Given the description of an element on the screen output the (x, y) to click on. 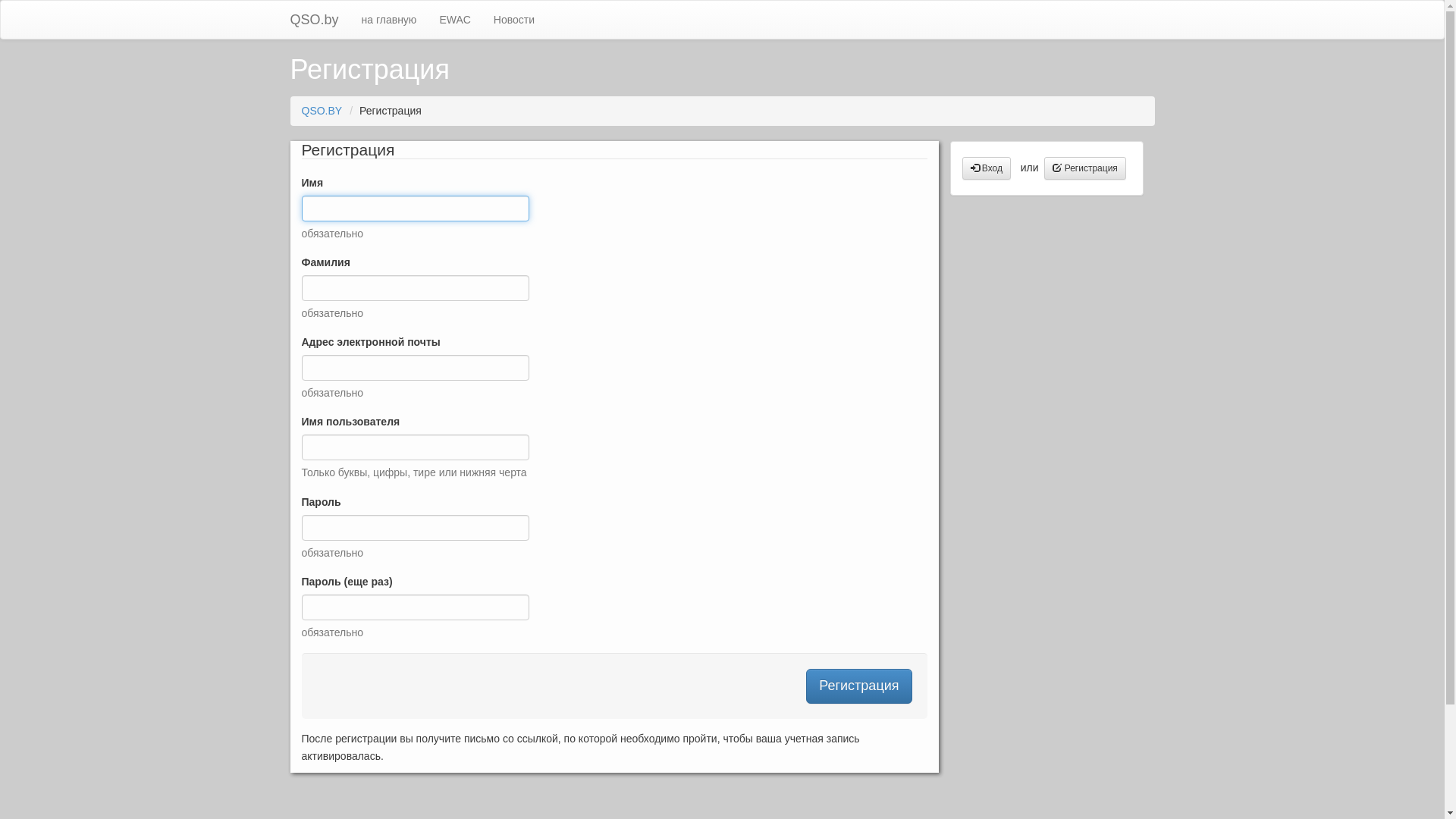
QSO.BY Element type: text (321, 110)
EWAC Element type: text (454, 19)
QSO.by Element type: text (314, 19)
